Given the description of an element on the screen output the (x, y) to click on. 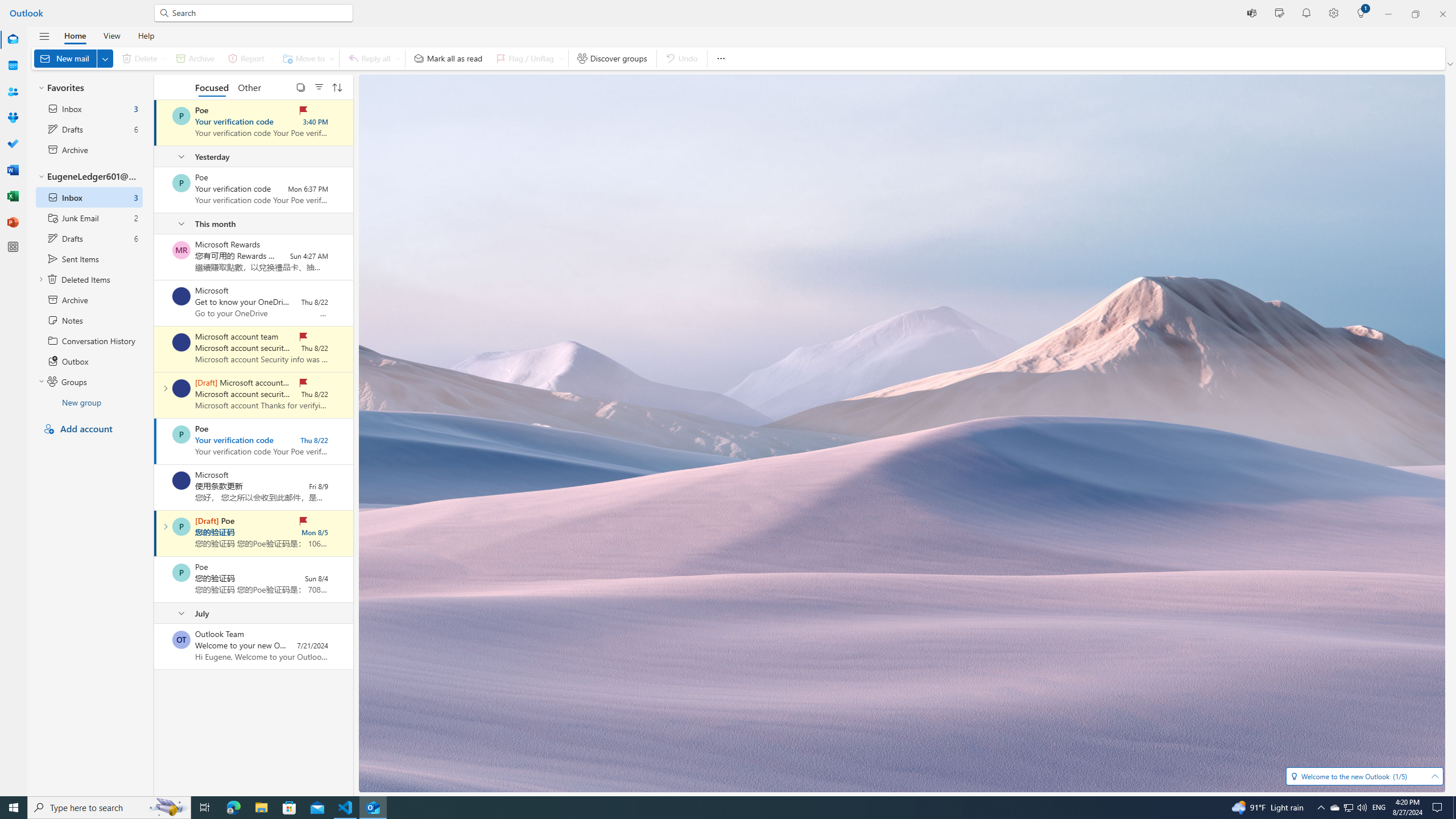
Inbox 3 unread (89, 108)
Groups (89, 381)
Reply all (372, 58)
Favorites (89, 87)
View (111, 35)
Sorted: By Date (336, 86)
Excel (12, 196)
Conversation History (89, 340)
Expand conversation (164, 526)
Delete (141, 58)
Other (248, 86)
